Given the description of an element on the screen output the (x, y) to click on. 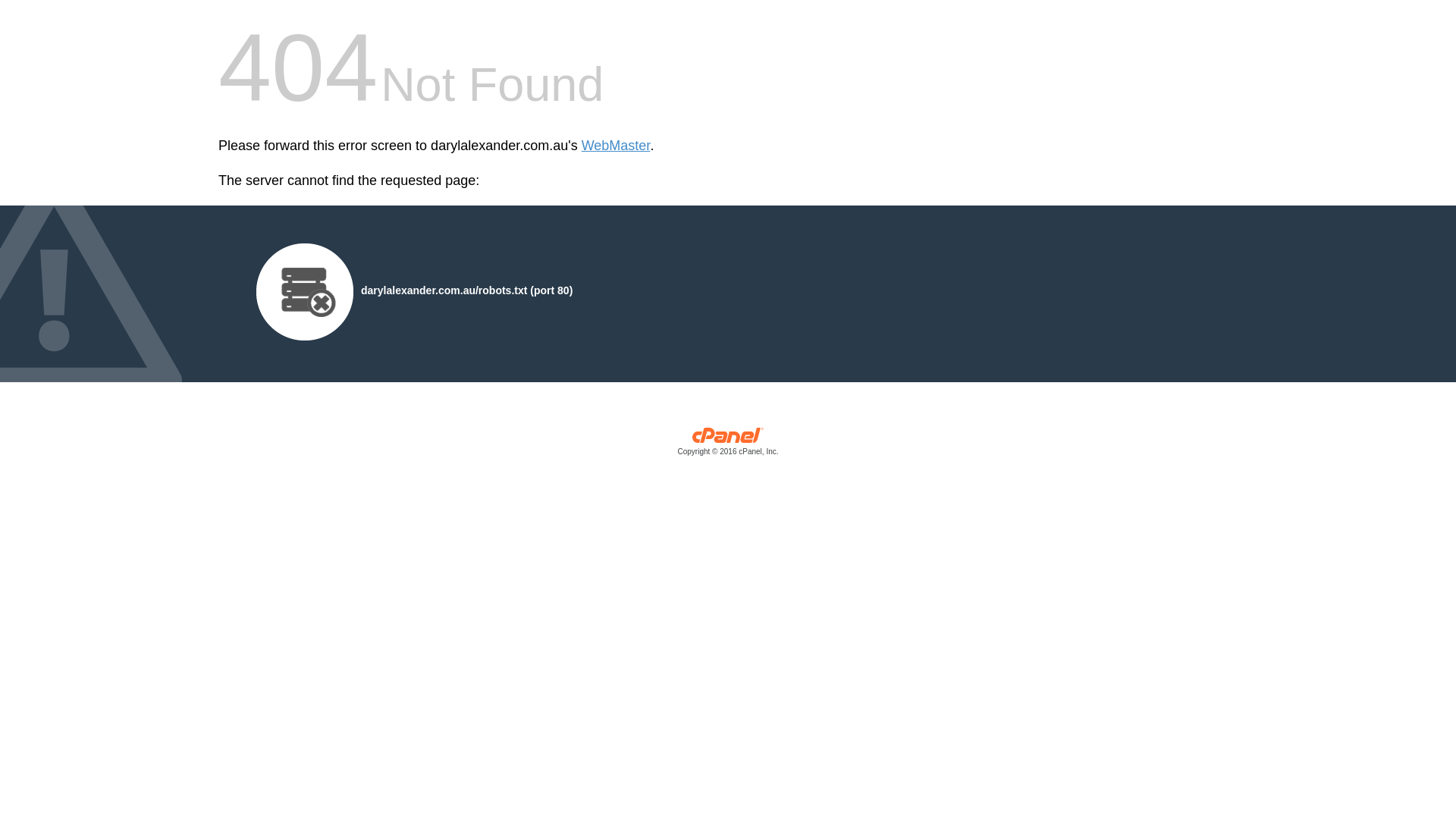
WebMaster Element type: text (615, 145)
